Given the description of an element on the screen output the (x, y) to click on. 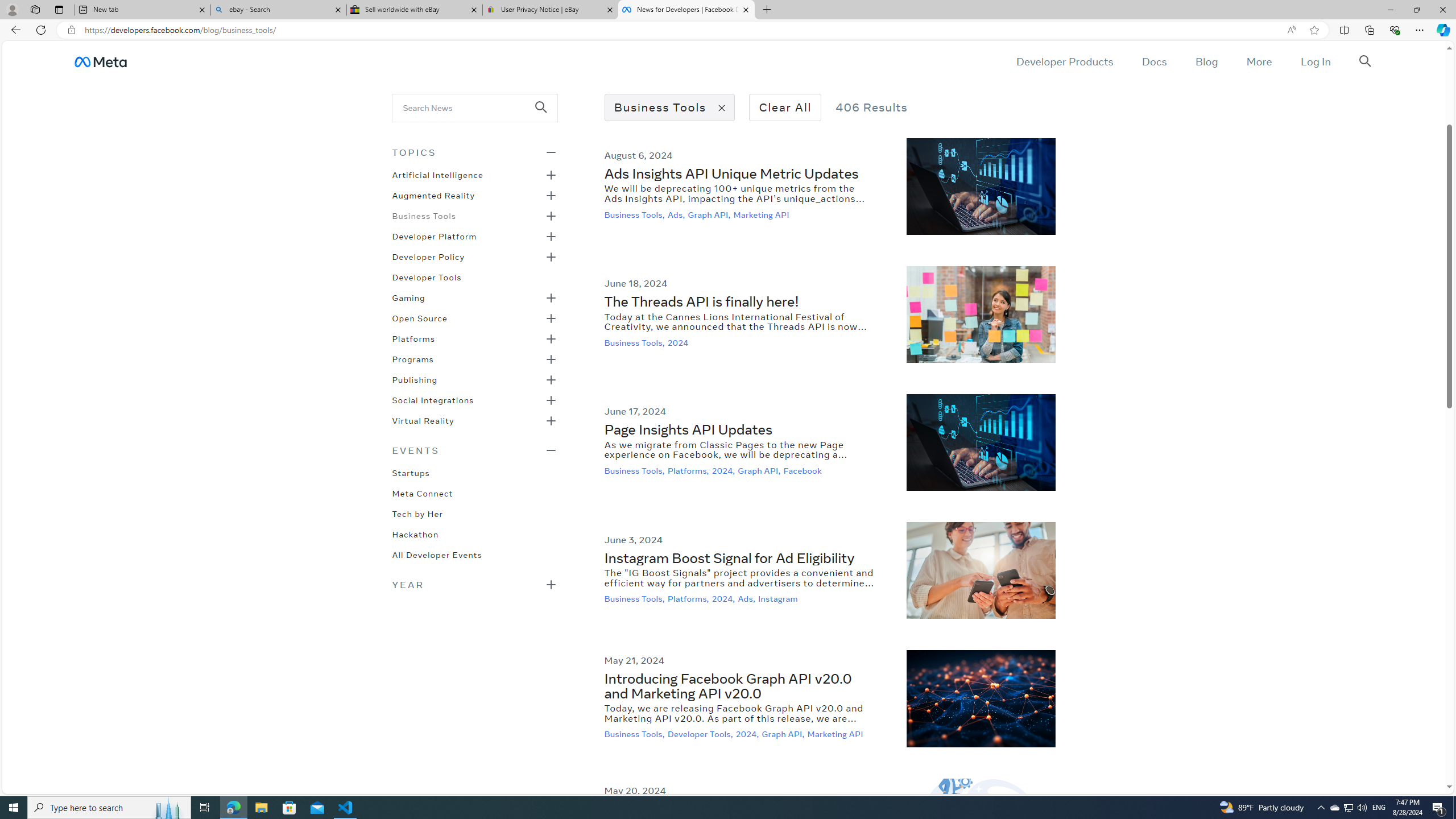
Open Source (418, 317)
Instagram (778, 598)
Marketing API (836, 733)
All Developer Events (436, 553)
2024 (678, 342)
Platforms, (688, 598)
Meta Connect (421, 492)
